Given the description of an element on the screen output the (x, y) to click on. 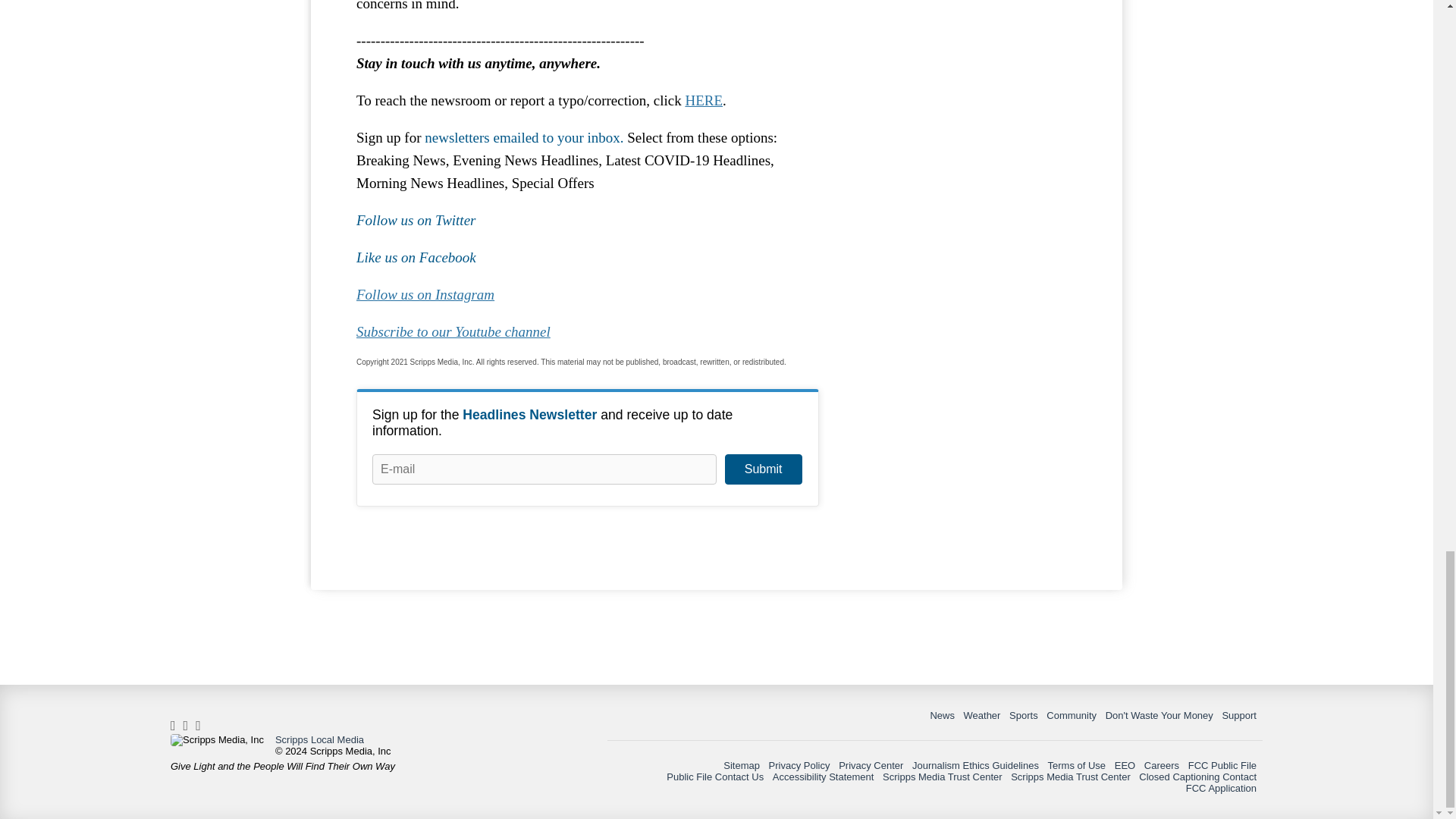
Submit (763, 469)
